Given the description of an element on the screen output the (x, y) to click on. 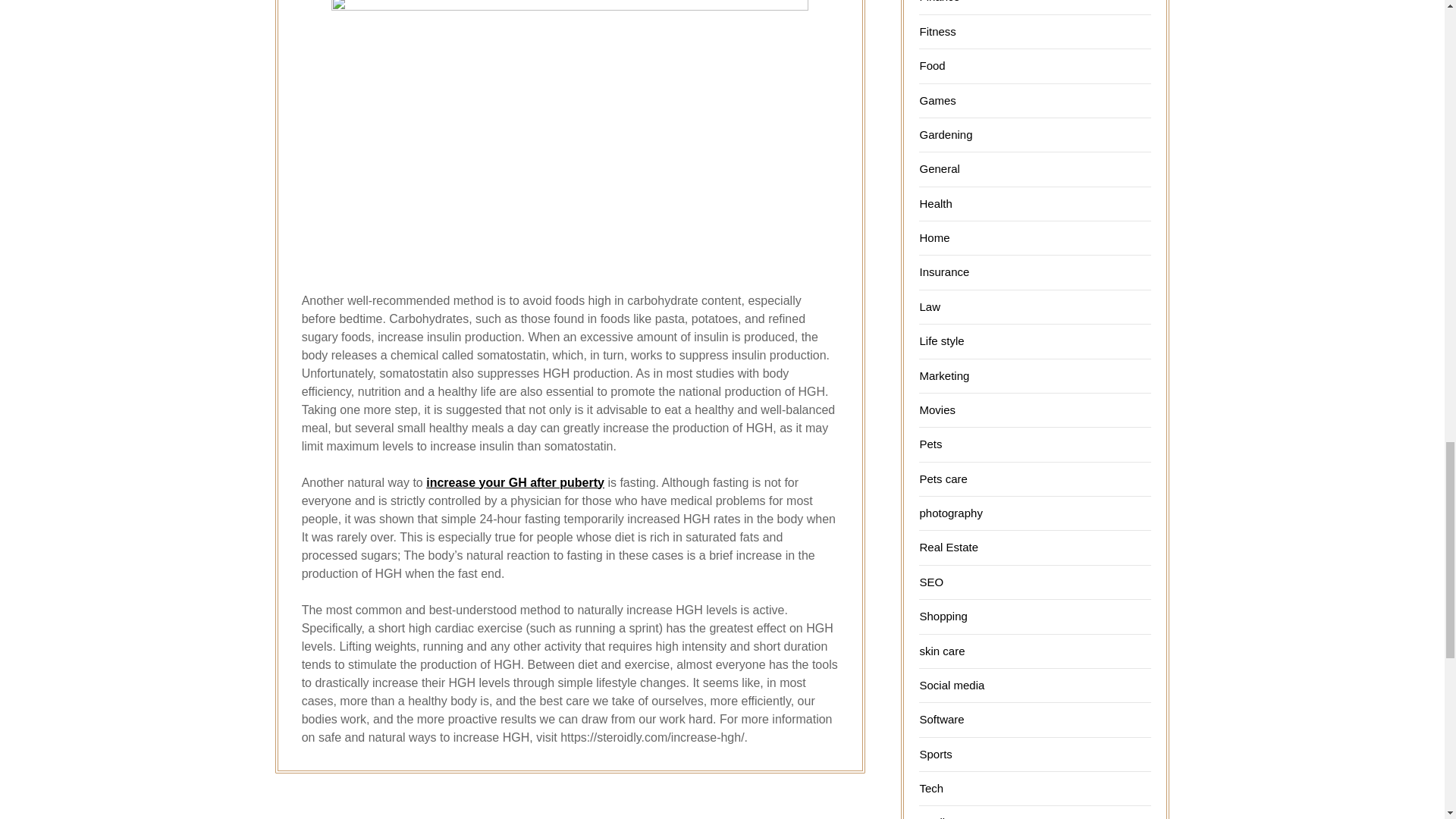
Home (933, 237)
Health (935, 203)
Games (936, 100)
General (938, 168)
Fitness (936, 31)
Finance (938, 1)
Gardening (945, 133)
Life style (940, 340)
Food (931, 65)
increase your GH after puberty (515, 481)
